Given the description of an element on the screen output the (x, y) to click on. 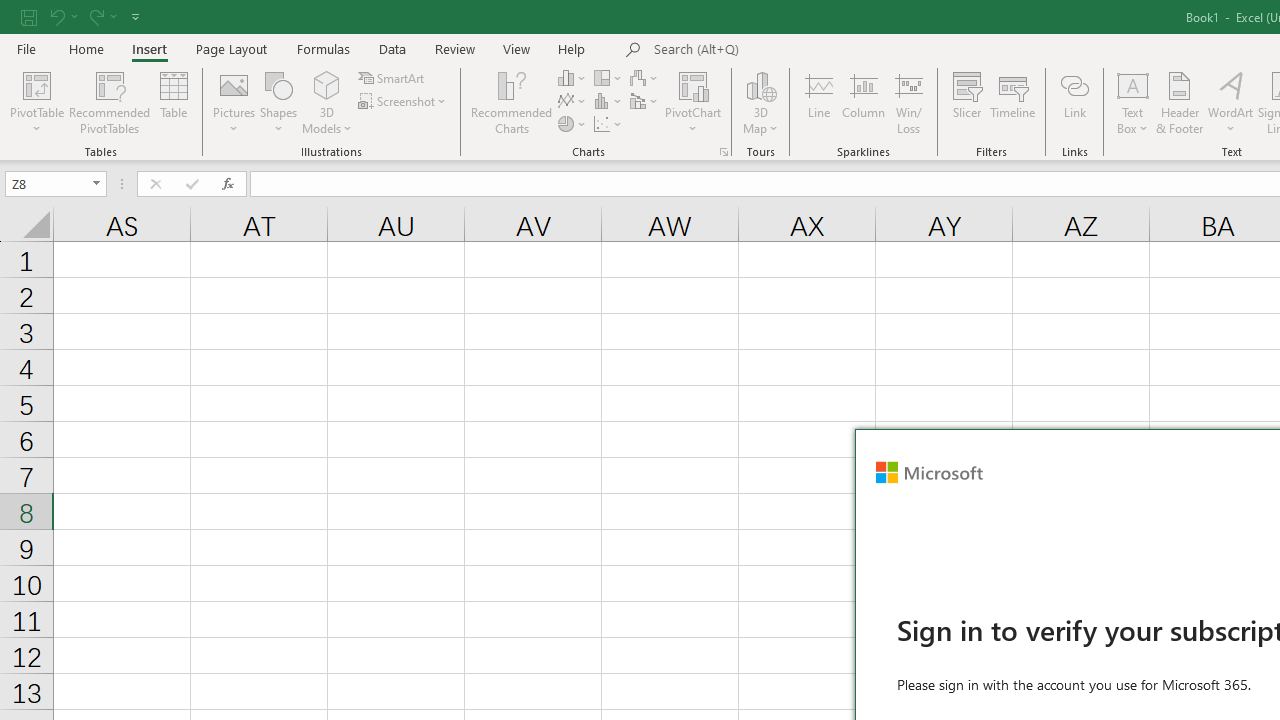
File Tab (26, 48)
Customize Quick Access Toolbar (135, 15)
Win/Loss (909, 102)
Recommended Charts (723, 151)
Data (392, 48)
Pictures (234, 102)
Insert Column or Bar Chart (573, 78)
Insert Statistic Chart (609, 101)
Insert Hierarchy Chart (609, 78)
WordArt (1230, 102)
Shapes (278, 102)
